Given the description of an element on the screen output the (x, y) to click on. 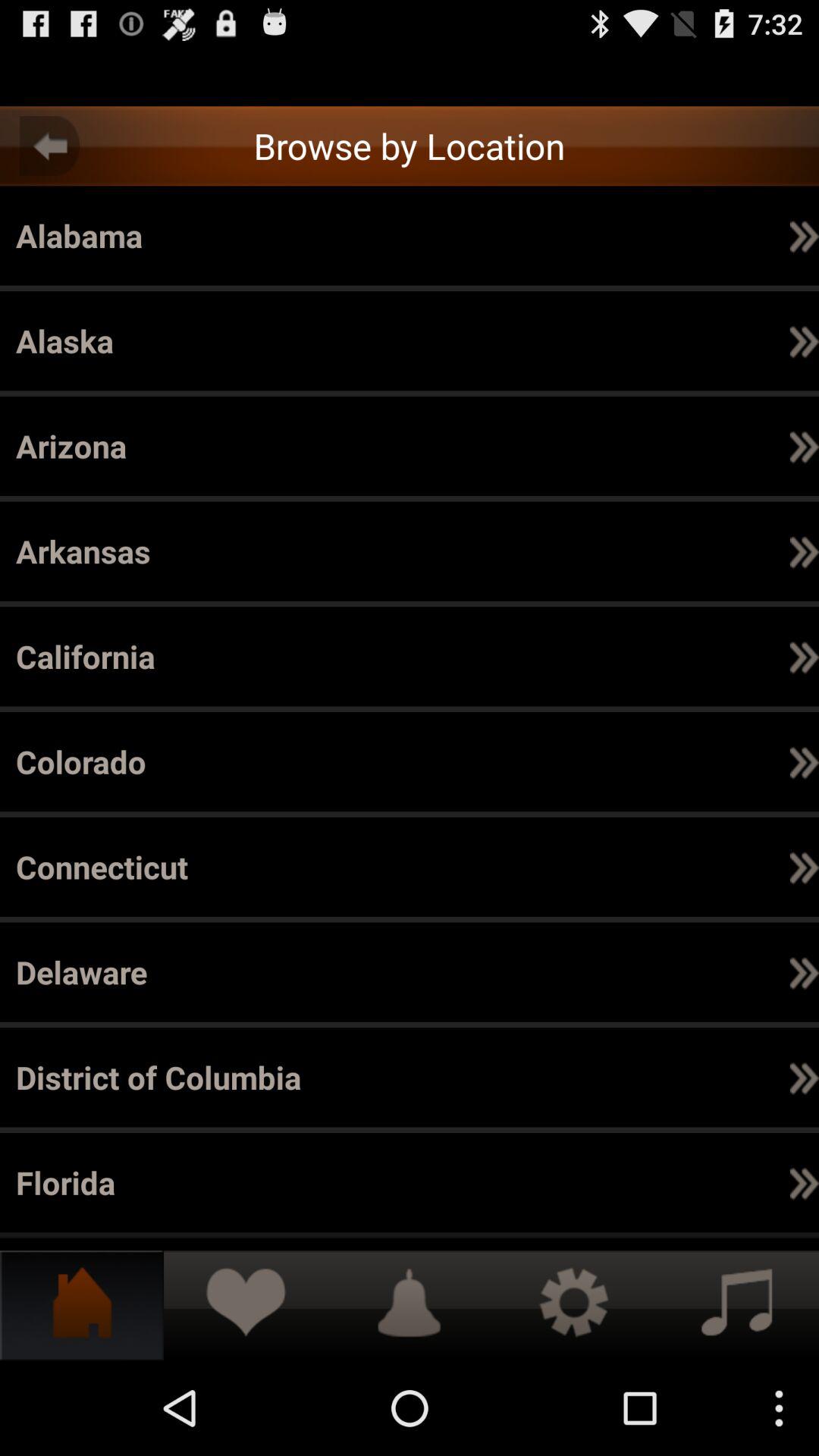
tap app to the right of the   el dorado (804, 1076)
